Given the description of an element on the screen output the (x, y) to click on. 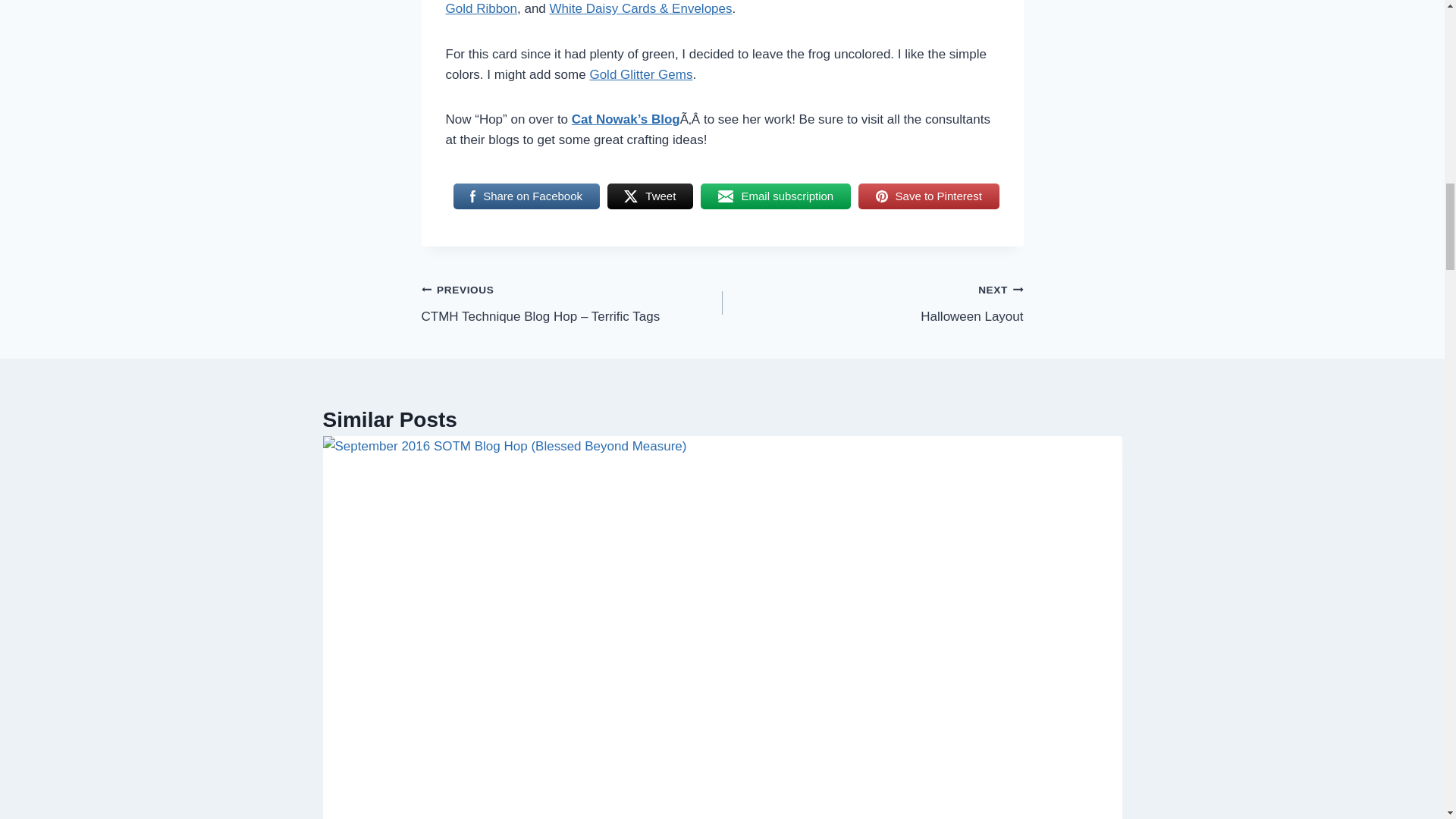
Share on Facebook (525, 195)
Email subscription (775, 195)
Save to Pinterest (872, 302)
Tweet (928, 195)
Gold Glitter Gems (650, 195)
